Given the description of an element on the screen output the (x, y) to click on. 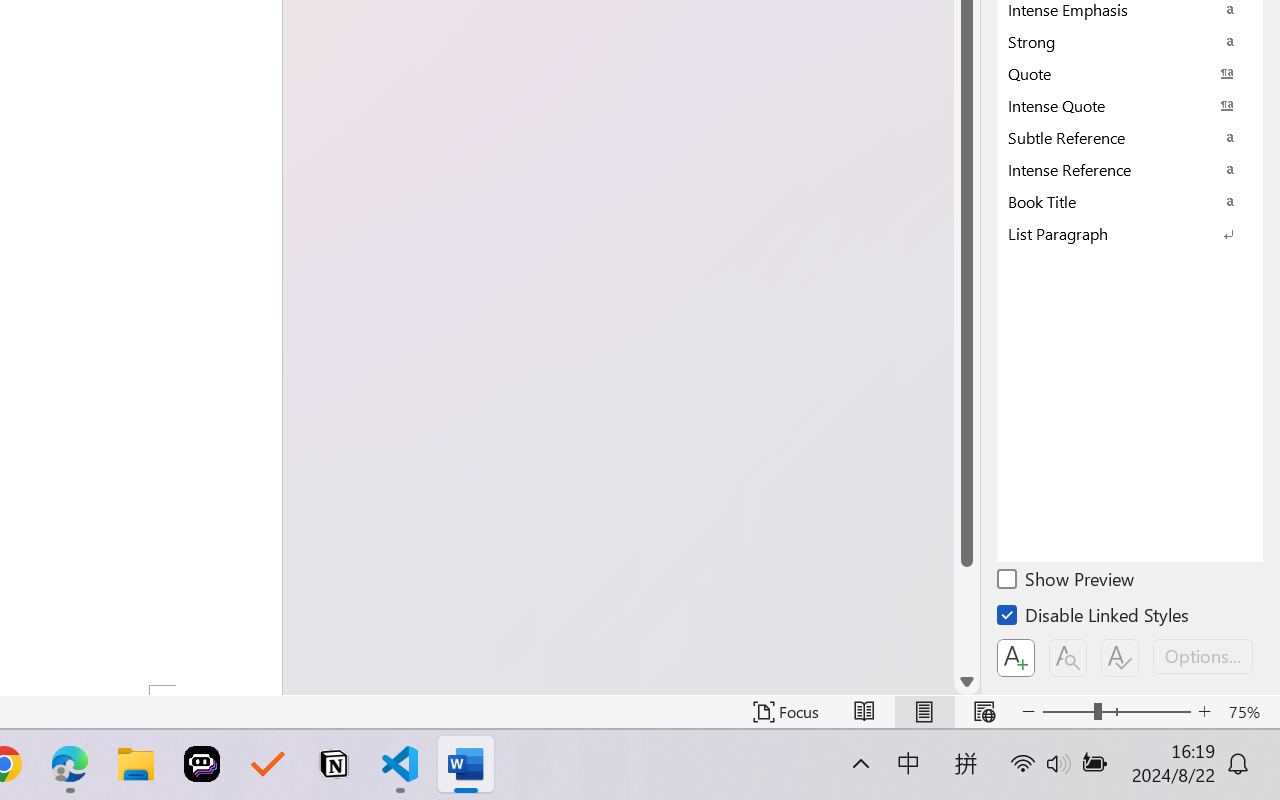
Page down (966, 617)
Class: NetUIButton (1119, 657)
Zoom 75% (1249, 712)
Line down (966, 681)
Disable Linked Styles (1094, 618)
Intense Reference (1130, 169)
Book Title (1130, 201)
List Paragraph (1130, 233)
Show Preview (1067, 582)
Intense Quote (1130, 105)
